Given the description of an element on the screen output the (x, y) to click on. 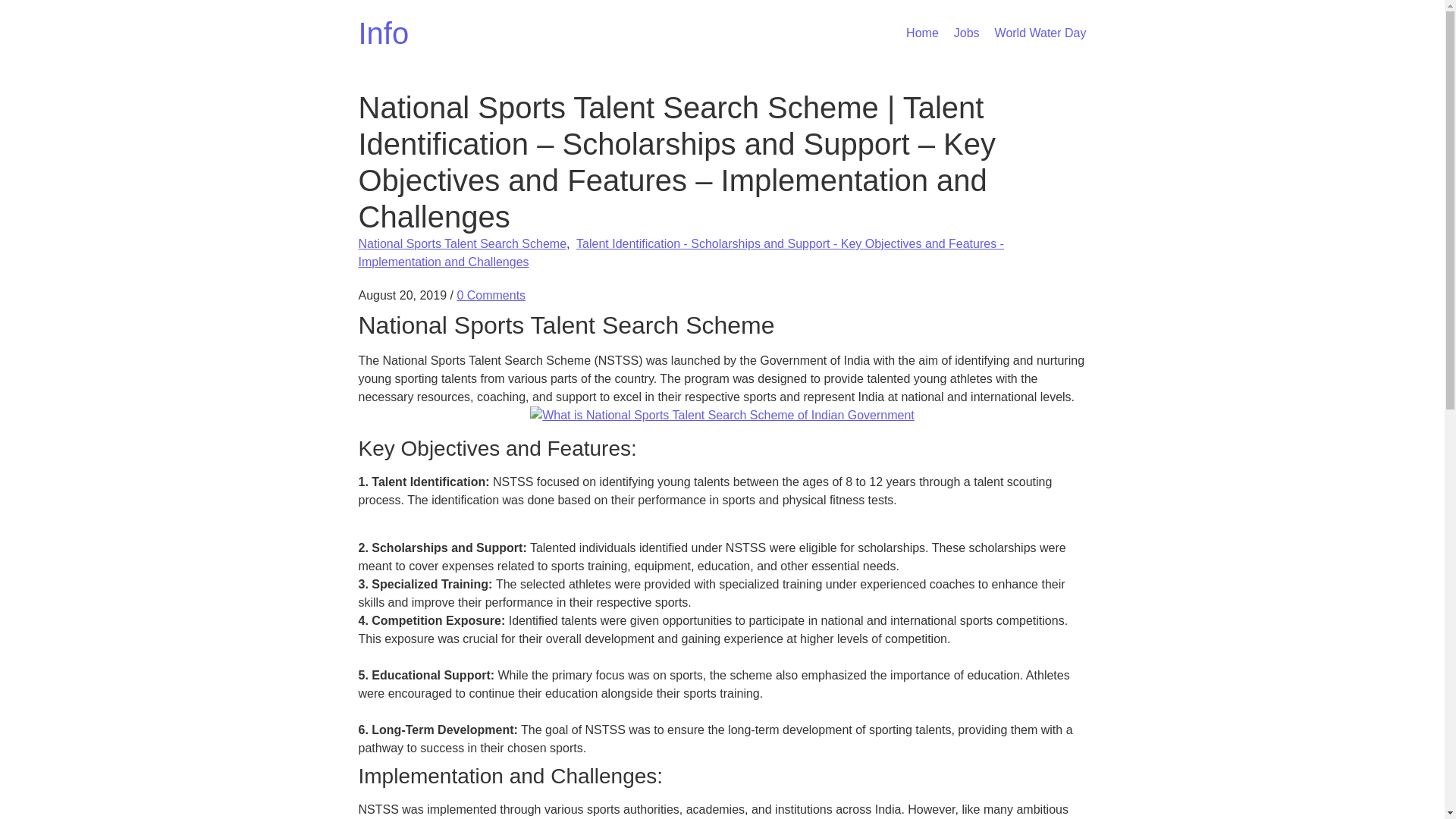
Home (922, 32)
National Sports Talent Search Scheme (462, 243)
Jobs (966, 32)
World Water Day (1040, 32)
0 Comments (491, 295)
Home (383, 32)
Info (383, 32)
National Sports Talent Search Scheme (721, 415)
